Given the description of an element on the screen output the (x, y) to click on. 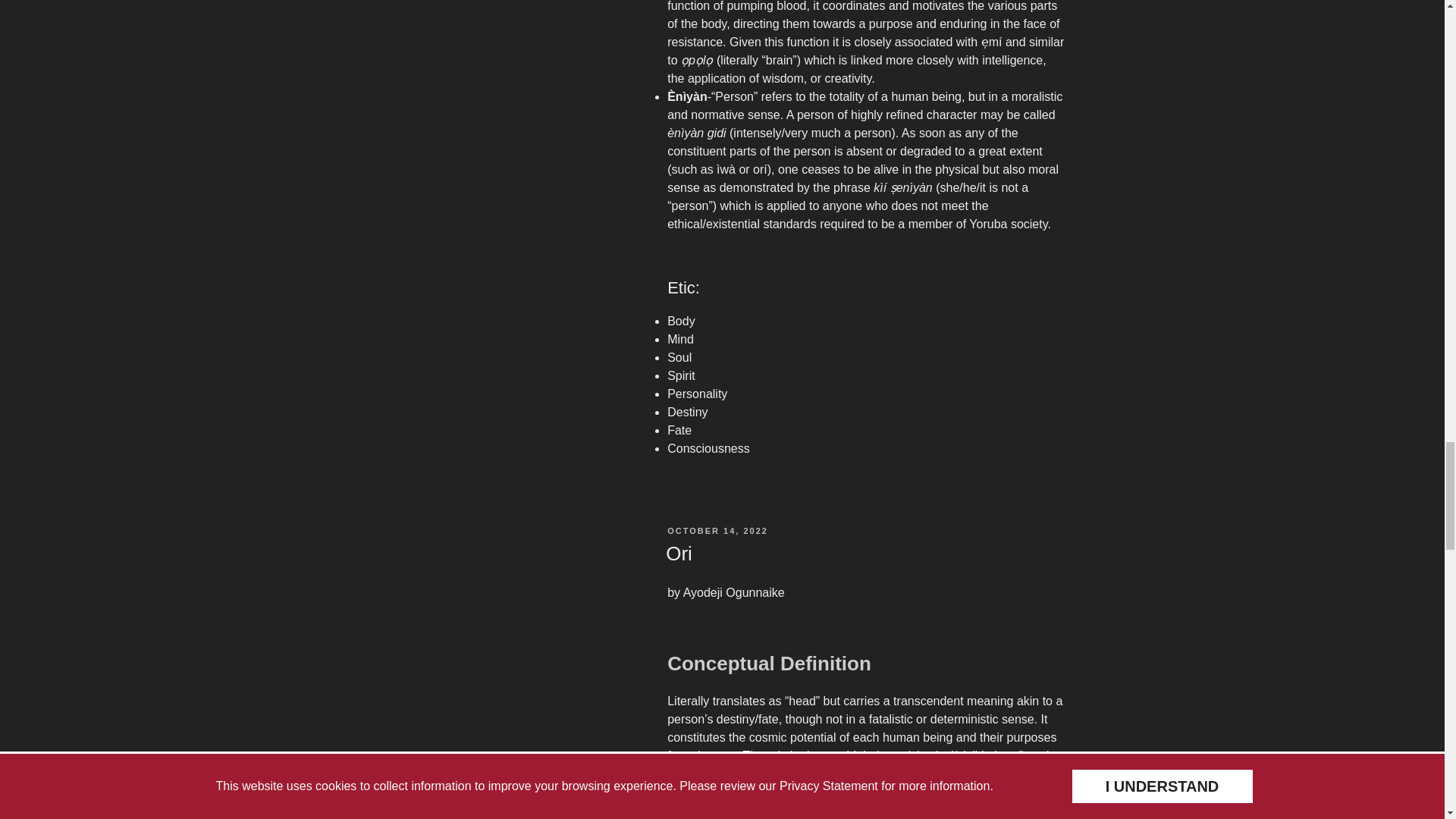
Ori (679, 553)
OCTOBER 14, 2022 (717, 530)
